Given the description of an element on the screen output the (x, y) to click on. 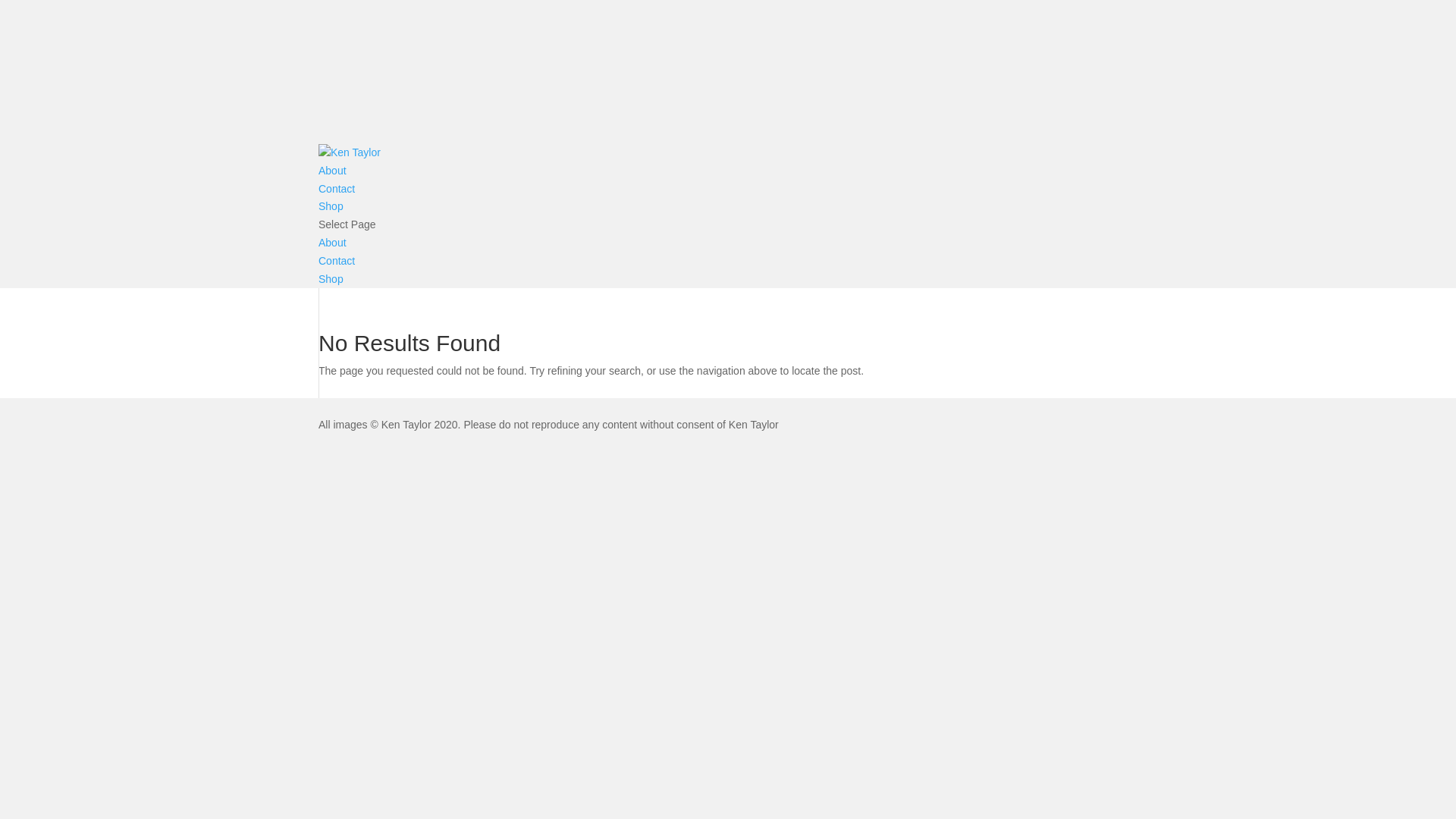
Shop Element type: text (330, 206)
Contact Element type: text (336, 188)
About Element type: text (332, 242)
About Element type: text (332, 170)
Shop Element type: text (330, 279)
Contact Element type: text (336, 260)
